Given the description of an element on the screen output the (x, y) to click on. 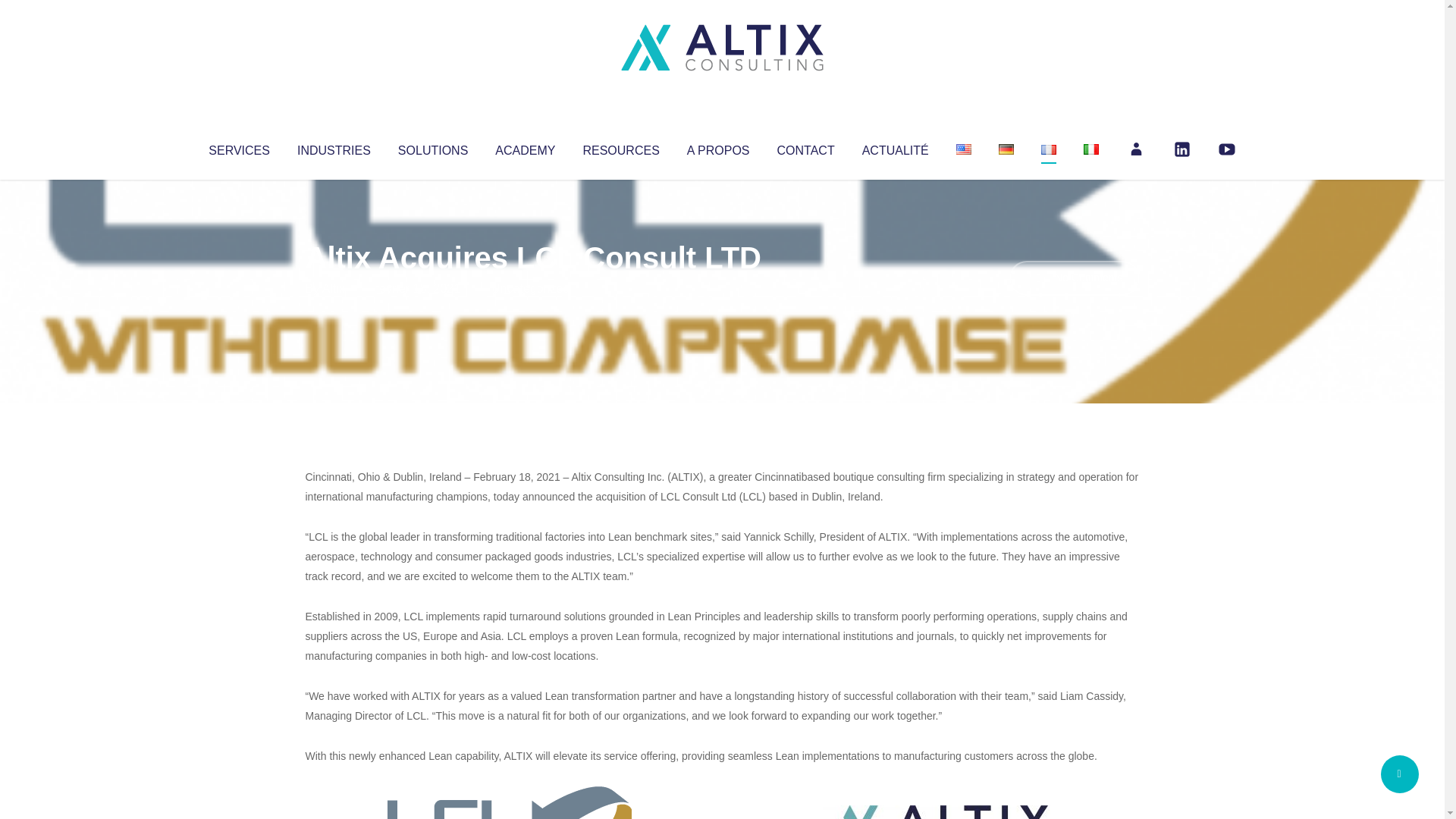
No Comments (1073, 278)
Uncategorized (530, 287)
A PROPOS (718, 146)
Altix (333, 287)
SOLUTIONS (432, 146)
ACADEMY (524, 146)
SERVICES (238, 146)
RESOURCES (620, 146)
INDUSTRIES (334, 146)
Articles par Altix (333, 287)
